Given the description of an element on the screen output the (x, y) to click on. 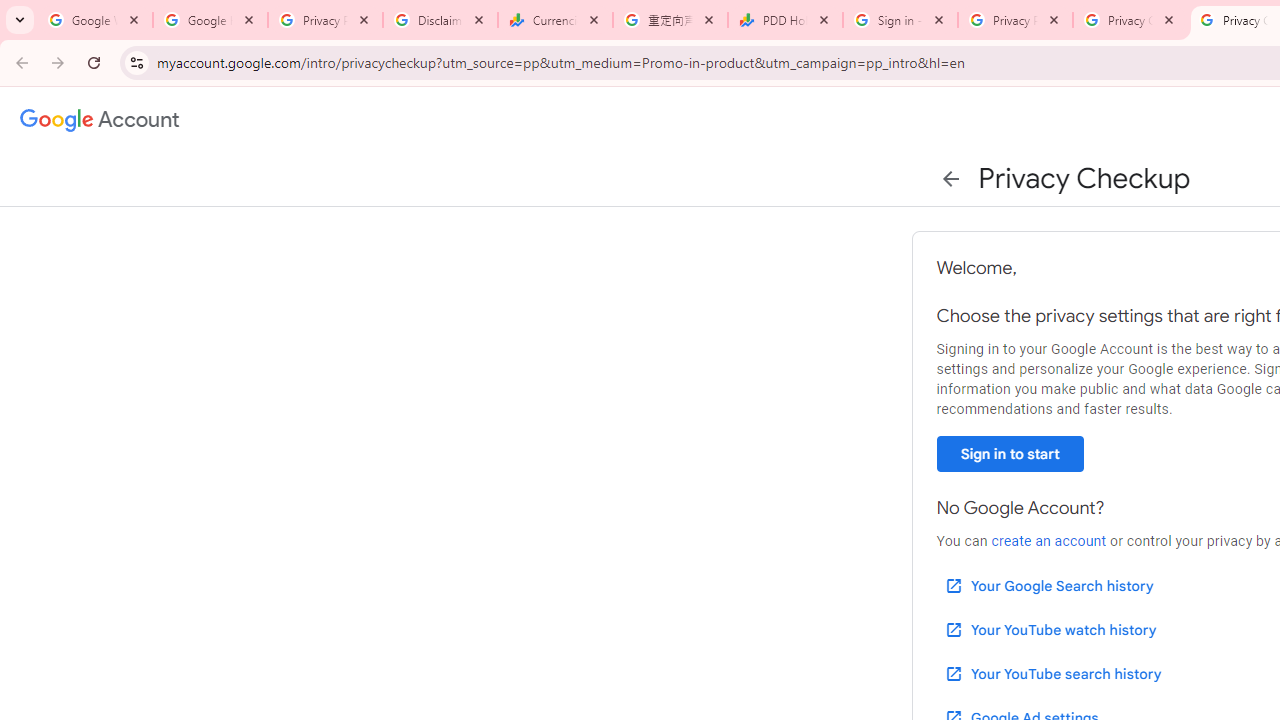
Google Account settings (100, 120)
Currencies - Google Finance (555, 20)
create an account (1048, 541)
Privacy Checkup (1129, 20)
